Given the description of an element on the screen output the (x, y) to click on. 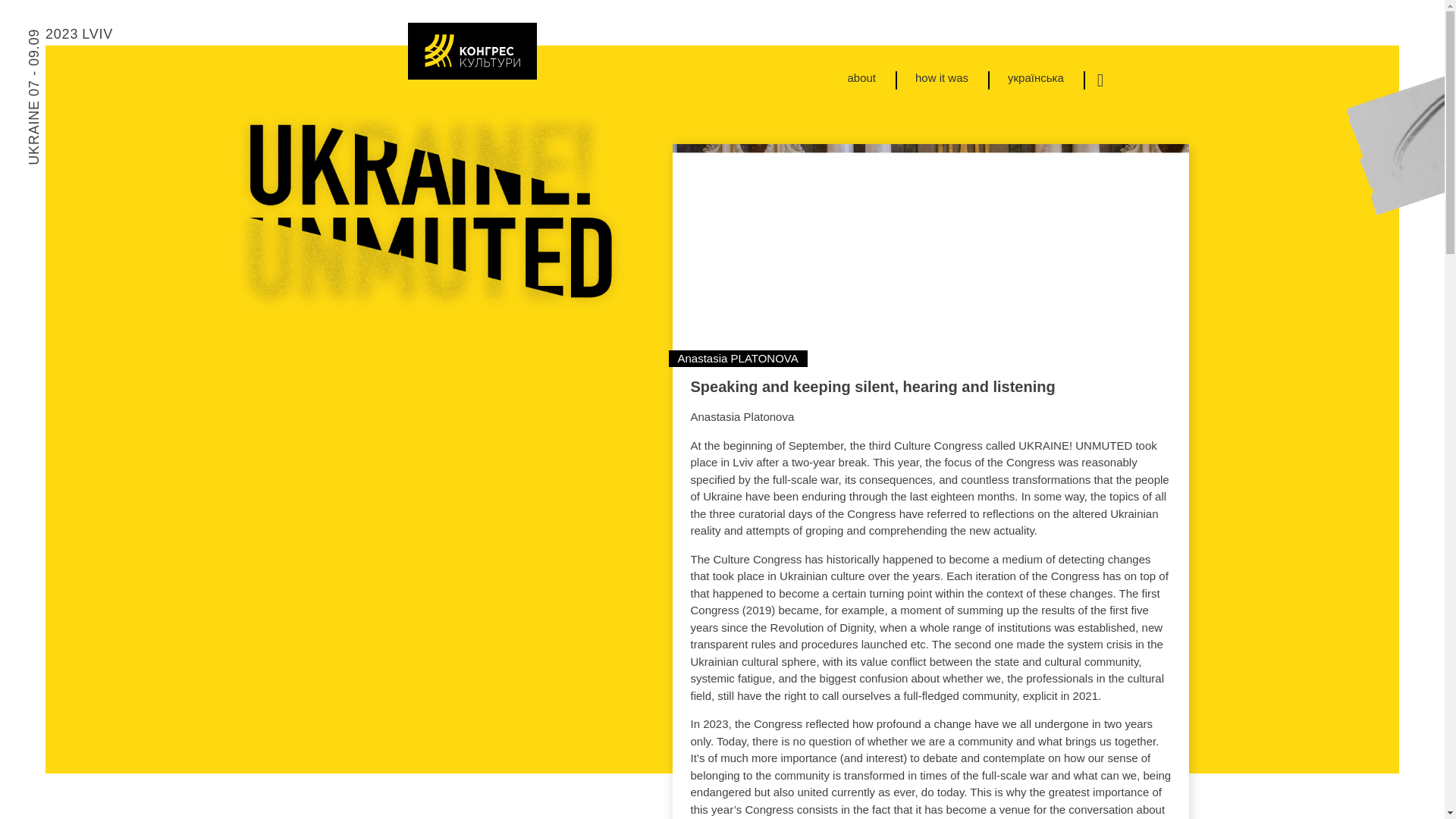
about (611, 60)
how it was (691, 60)
